Given the description of an element on the screen output the (x, y) to click on. 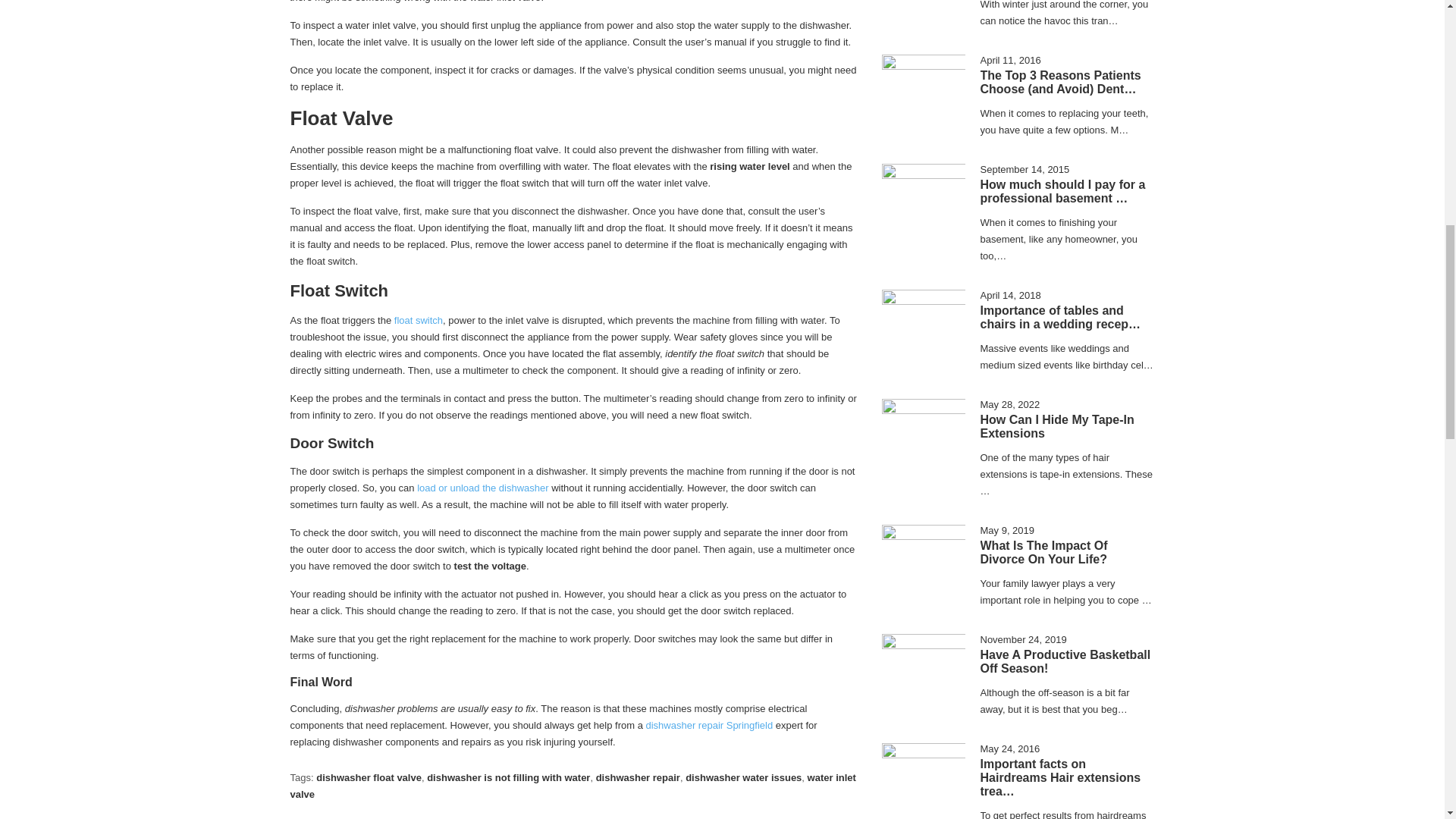
dishwasher float valve (368, 777)
dishwasher is not filling with water (507, 777)
dishwasher repair Springfield (709, 725)
float switch (418, 319)
water inlet valve (572, 786)
load or unload the dishwasher (482, 487)
dishwasher water issues (743, 777)
dishwasher repair (637, 777)
